Given the description of an element on the screen output the (x, y) to click on. 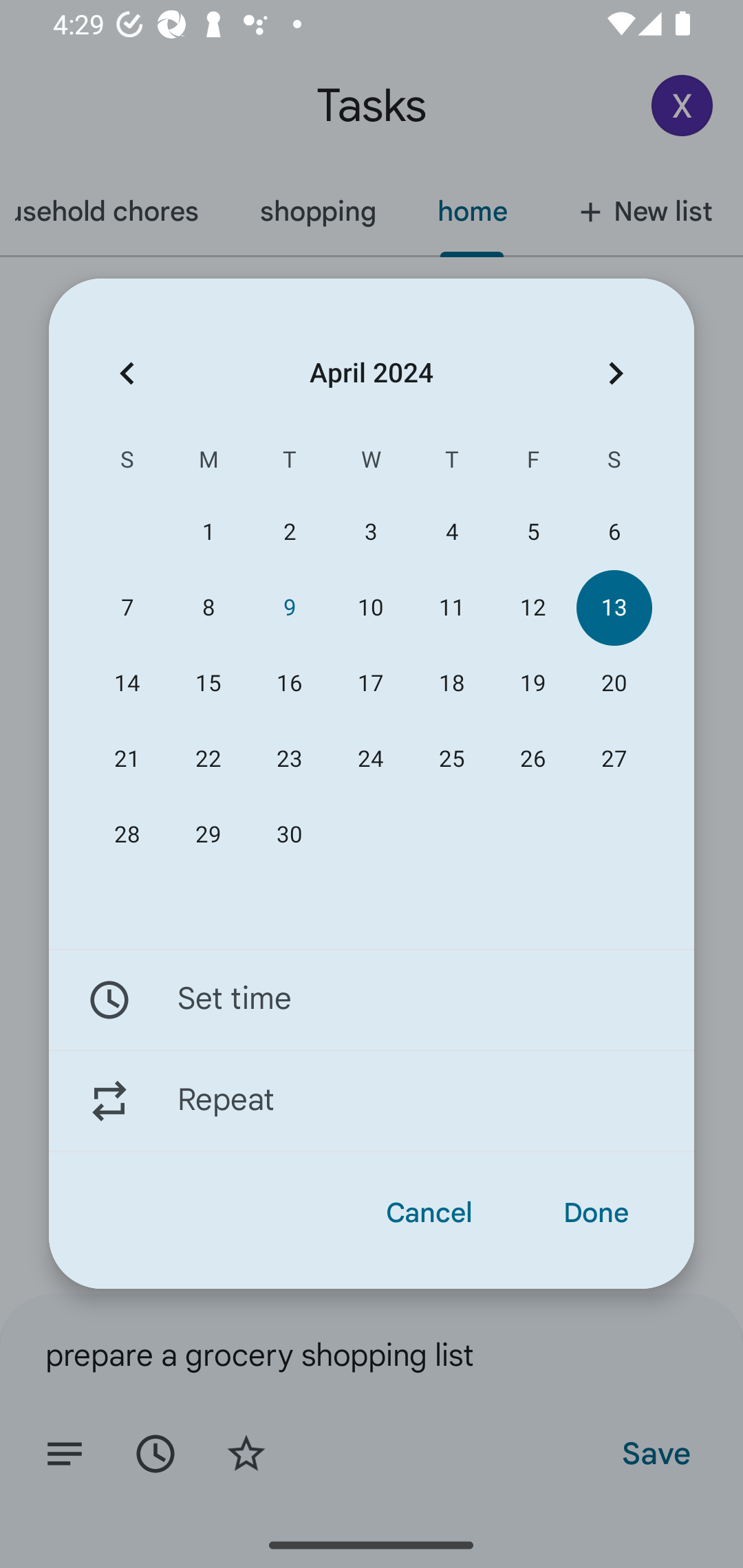
Previous month (126, 372)
Next month (615, 372)
1 01 April 2024 (207, 531)
2 02 April 2024 (288, 531)
3 03 April 2024 (370, 531)
4 04 April 2024 (451, 531)
5 05 April 2024 (532, 531)
6 06 April 2024 (613, 531)
7 07 April 2024 (126, 608)
8 08 April 2024 (207, 608)
9 09 April 2024 (288, 608)
10 10 April 2024 (370, 608)
11 11 April 2024 (451, 608)
12 12 April 2024 (532, 608)
13 13 April 2024 (613, 608)
14 14 April 2024 (126, 683)
15 15 April 2024 (207, 683)
16 16 April 2024 (288, 683)
17 17 April 2024 (370, 683)
18 18 April 2024 (451, 683)
19 19 April 2024 (532, 683)
20 20 April 2024 (613, 683)
21 21 April 2024 (126, 758)
22 22 April 2024 (207, 758)
23 23 April 2024 (288, 758)
24 24 April 2024 (370, 758)
25 25 April 2024 (451, 758)
26 26 April 2024 (532, 758)
27 27 April 2024 (613, 758)
28 28 April 2024 (126, 834)
29 29 April 2024 (207, 834)
30 30 April 2024 (288, 834)
Set time (371, 999)
Repeat (371, 1101)
Cancel (429, 1213)
Done (595, 1213)
